Given the description of an element on the screen output the (x, y) to click on. 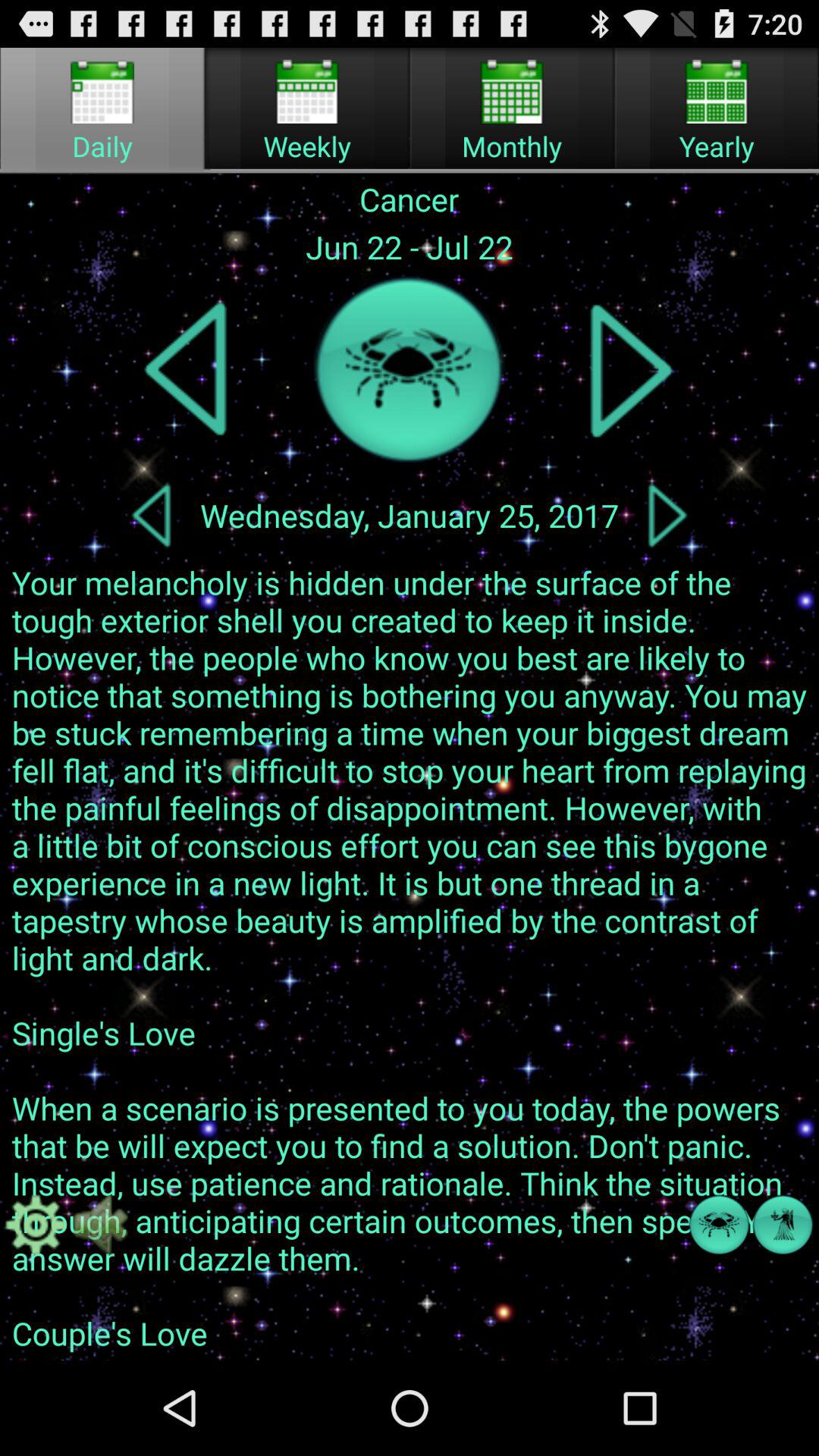
go to next (631, 369)
